Given the description of an element on the screen output the (x, y) to click on. 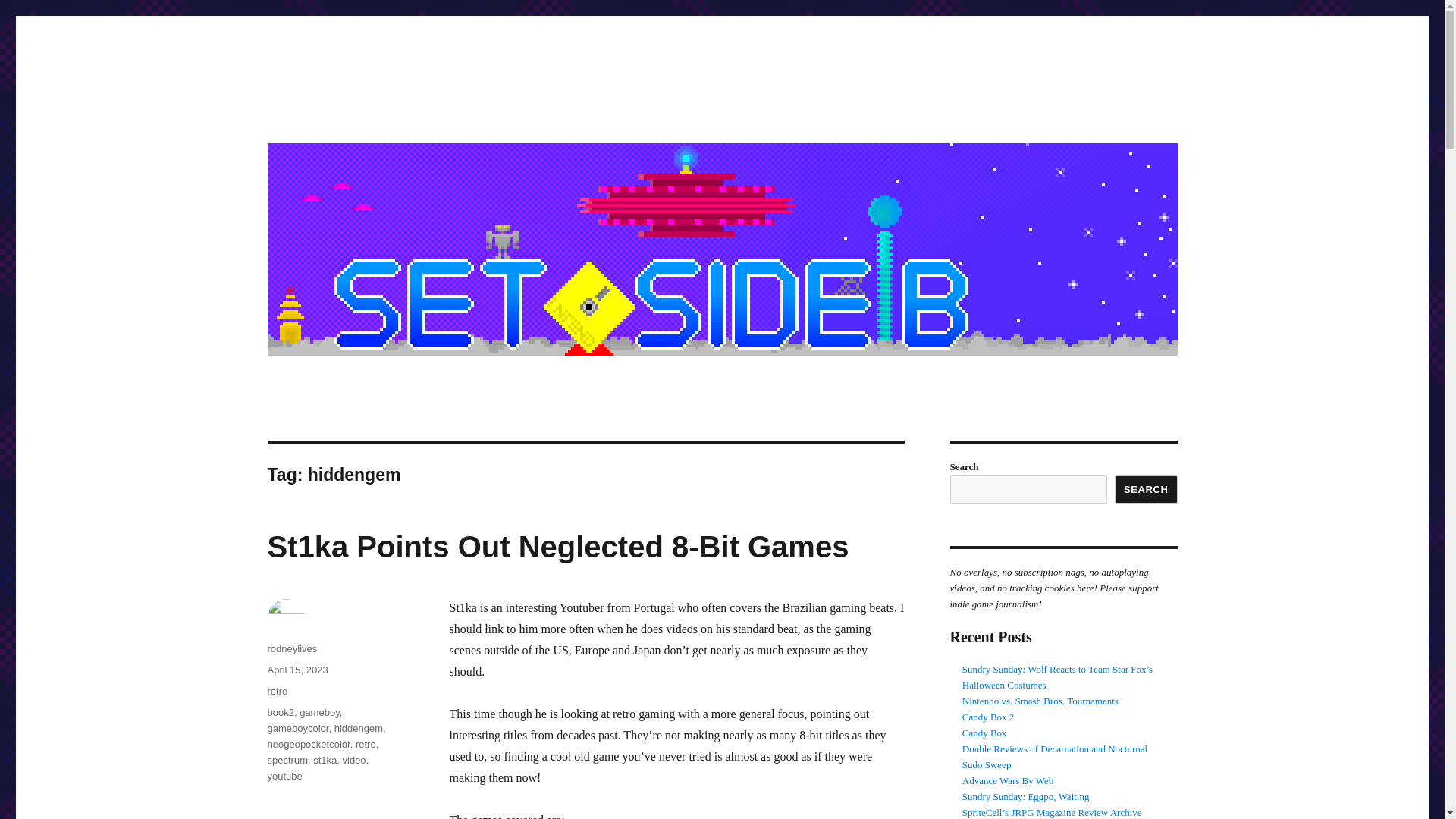
hiddengem (358, 727)
Double Reviews of Decarnation and Nocturnal (1054, 748)
retro (365, 744)
book2 (280, 712)
St1ka Points Out Neglected 8-Bit Games (557, 546)
Sudo Sweep (986, 764)
st1ka (324, 759)
youtube (283, 776)
gameboycolor (297, 727)
Nintendo vs. Smash Bros. Tournaments (1040, 700)
